Given the description of an element on the screen output the (x, y) to click on. 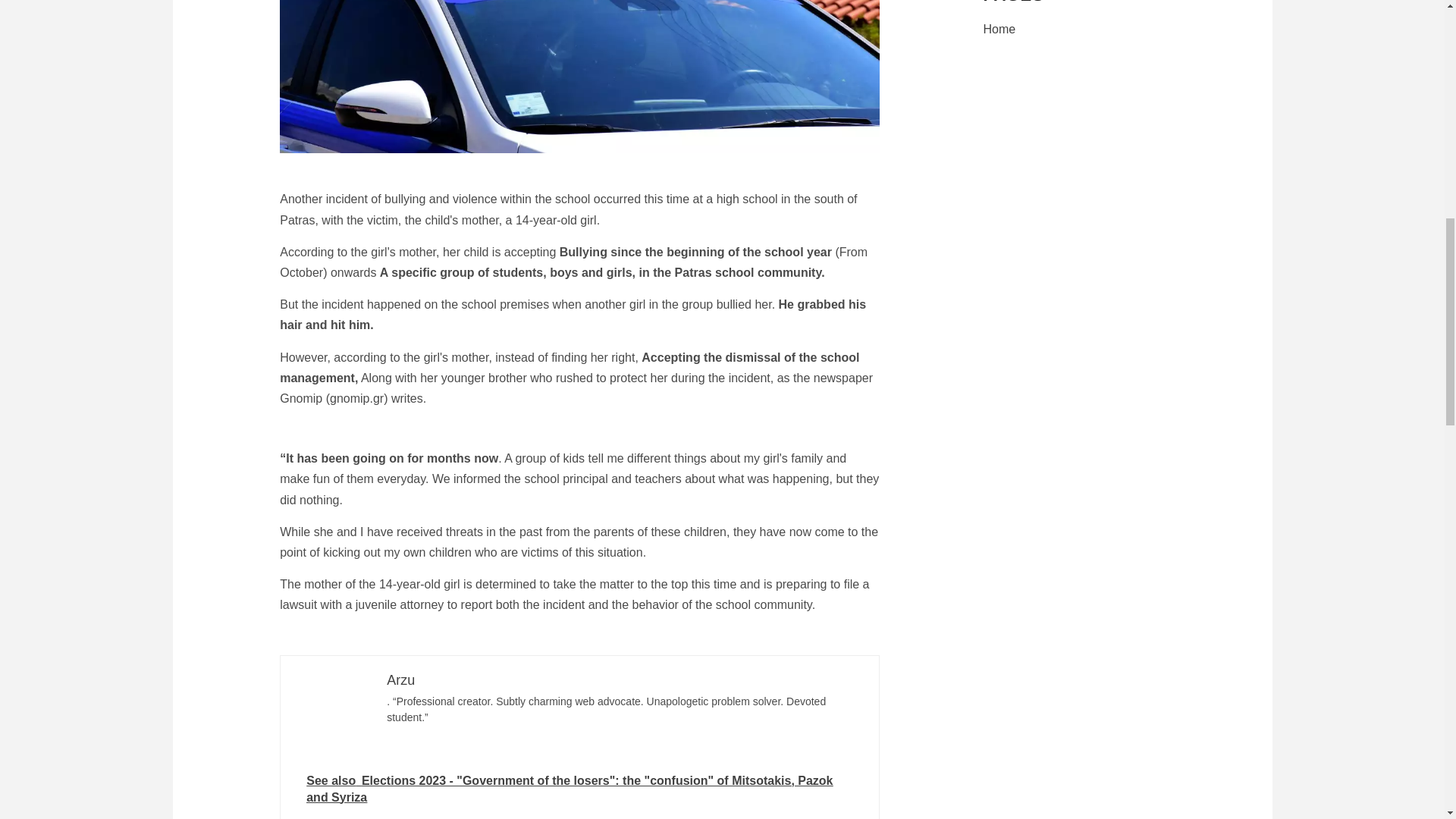
Arzu (400, 679)
